Given the description of an element on the screen output the (x, y) to click on. 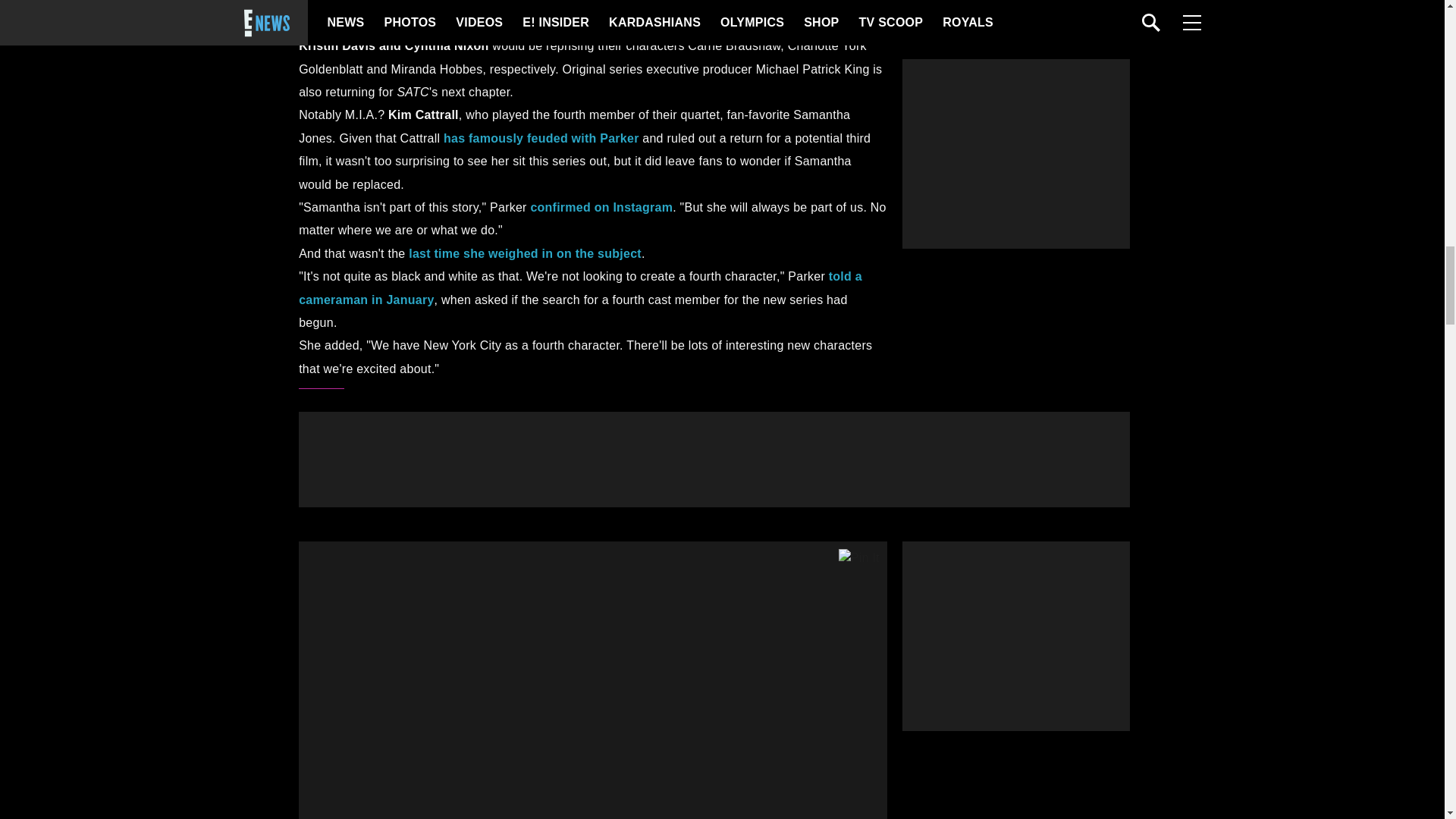
confirmed on Instagram (600, 206)
last time she weighed in on the subject (525, 253)
has famously feuded with Parker (541, 137)
told a cameraman in January (579, 287)
